Given the description of an element on the screen output the (x, y) to click on. 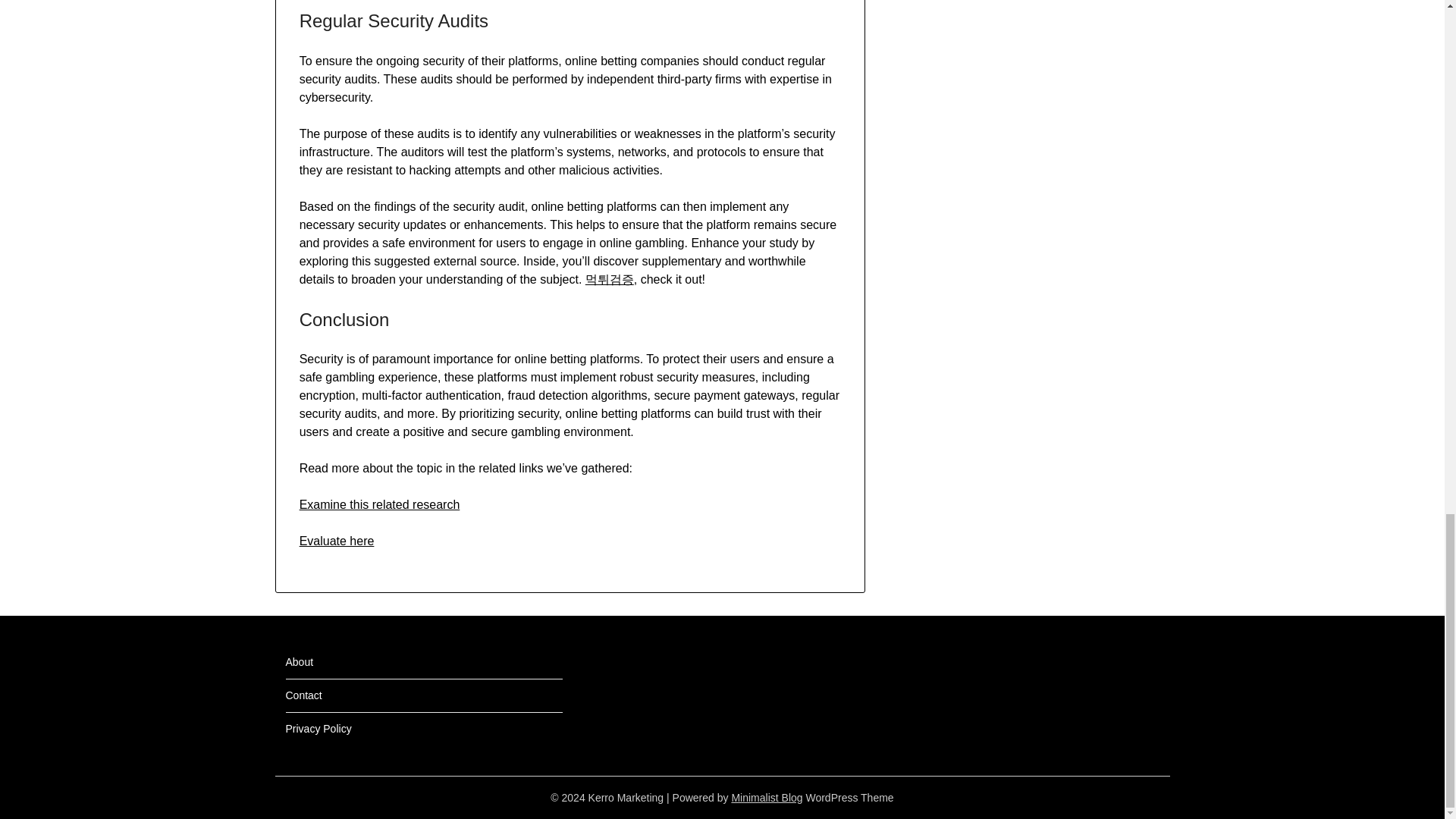
Contact (303, 695)
Evaluate here (336, 540)
Privacy Policy (317, 728)
Minimalist Blog (766, 797)
About (299, 662)
Examine this related research (379, 504)
